Given the description of an element on the screen output the (x, y) to click on. 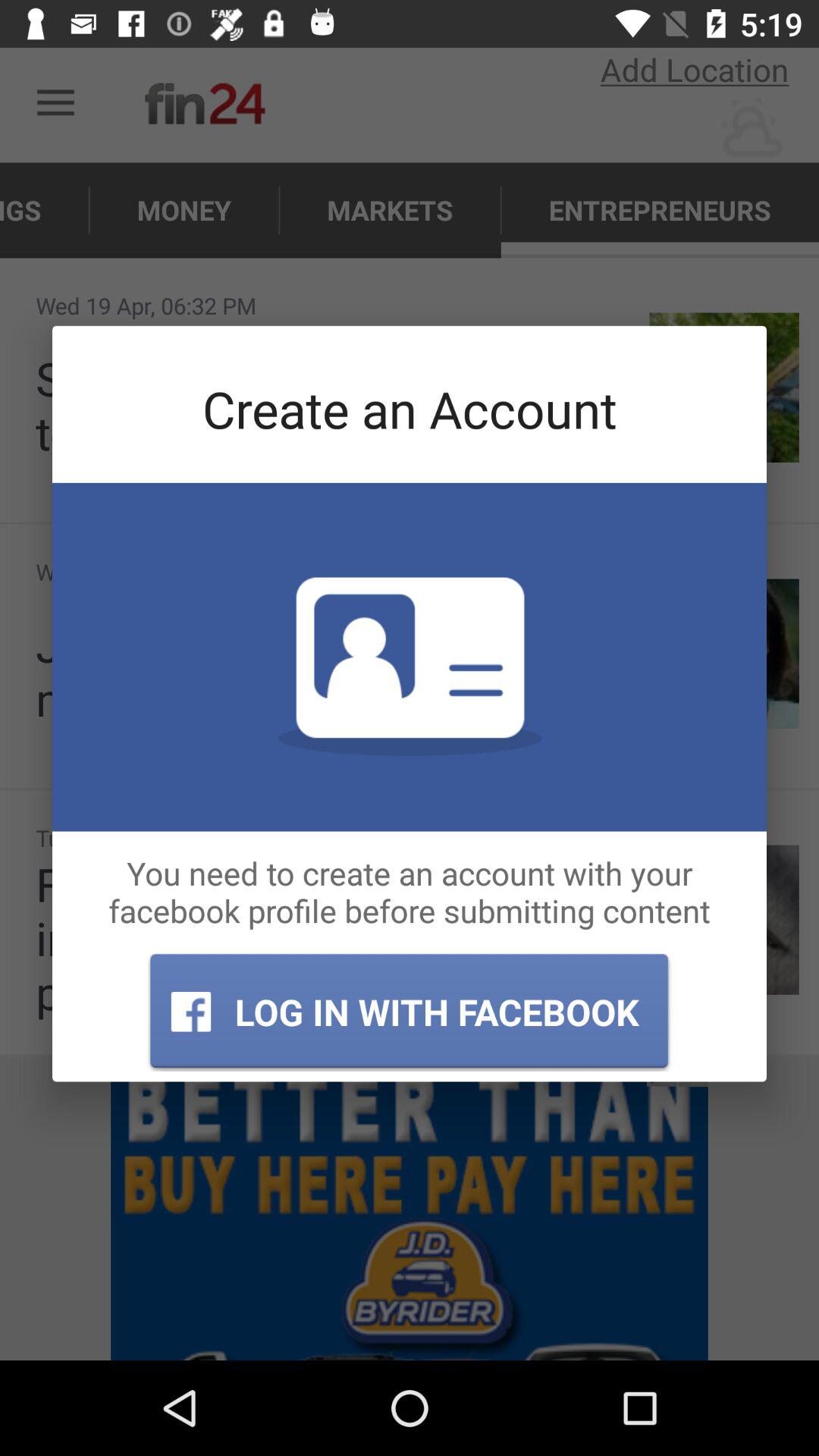
select item at the bottom (409, 1011)
